Given the description of an element on the screen output the (x, y) to click on. 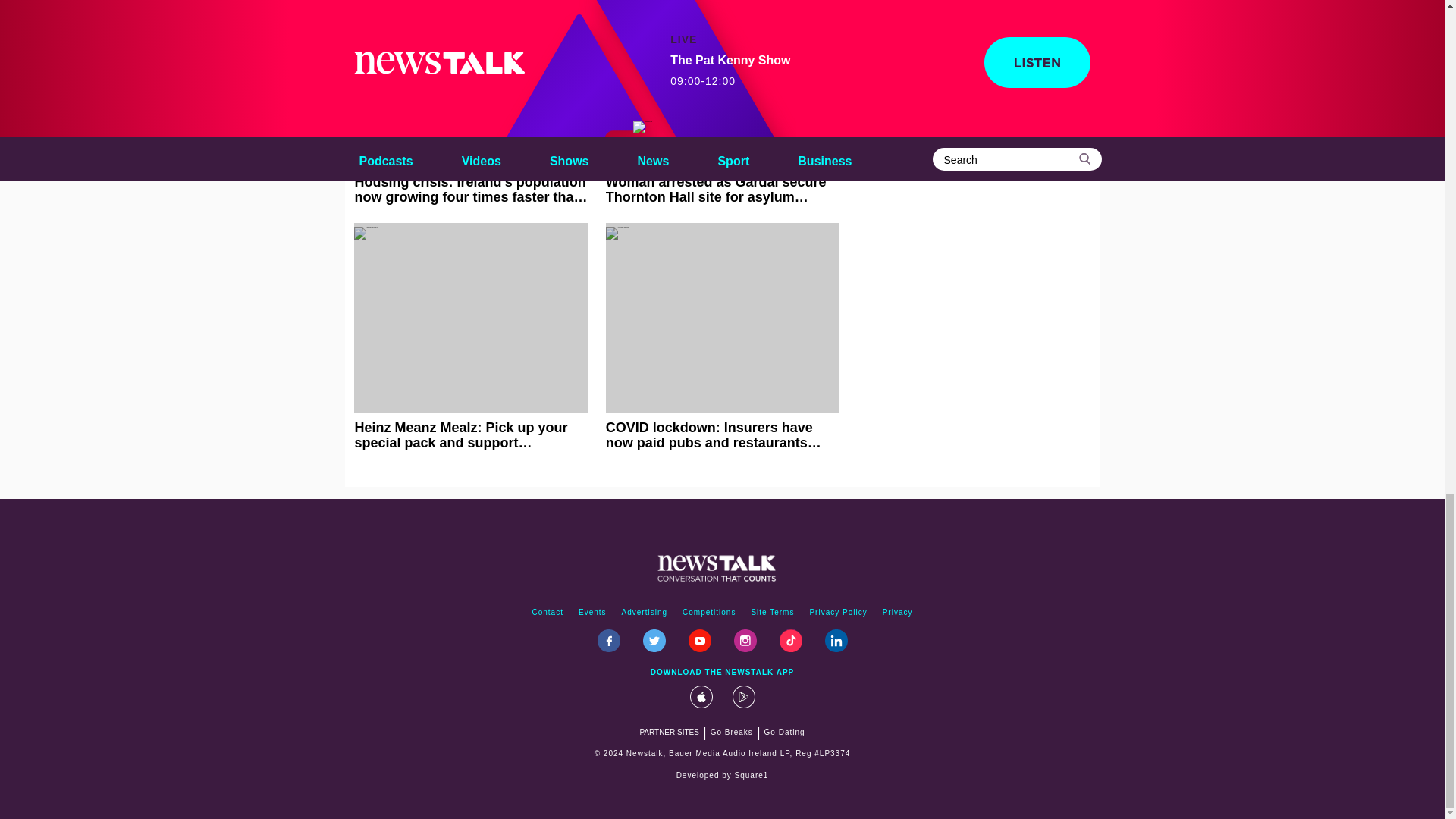
Privacy Policy (838, 612)
Privacy (897, 612)
events (592, 612)
advertising (644, 612)
competitions (708, 612)
contact (547, 612)
site terms (772, 612)
